Given the description of an element on the screen output the (x, y) to click on. 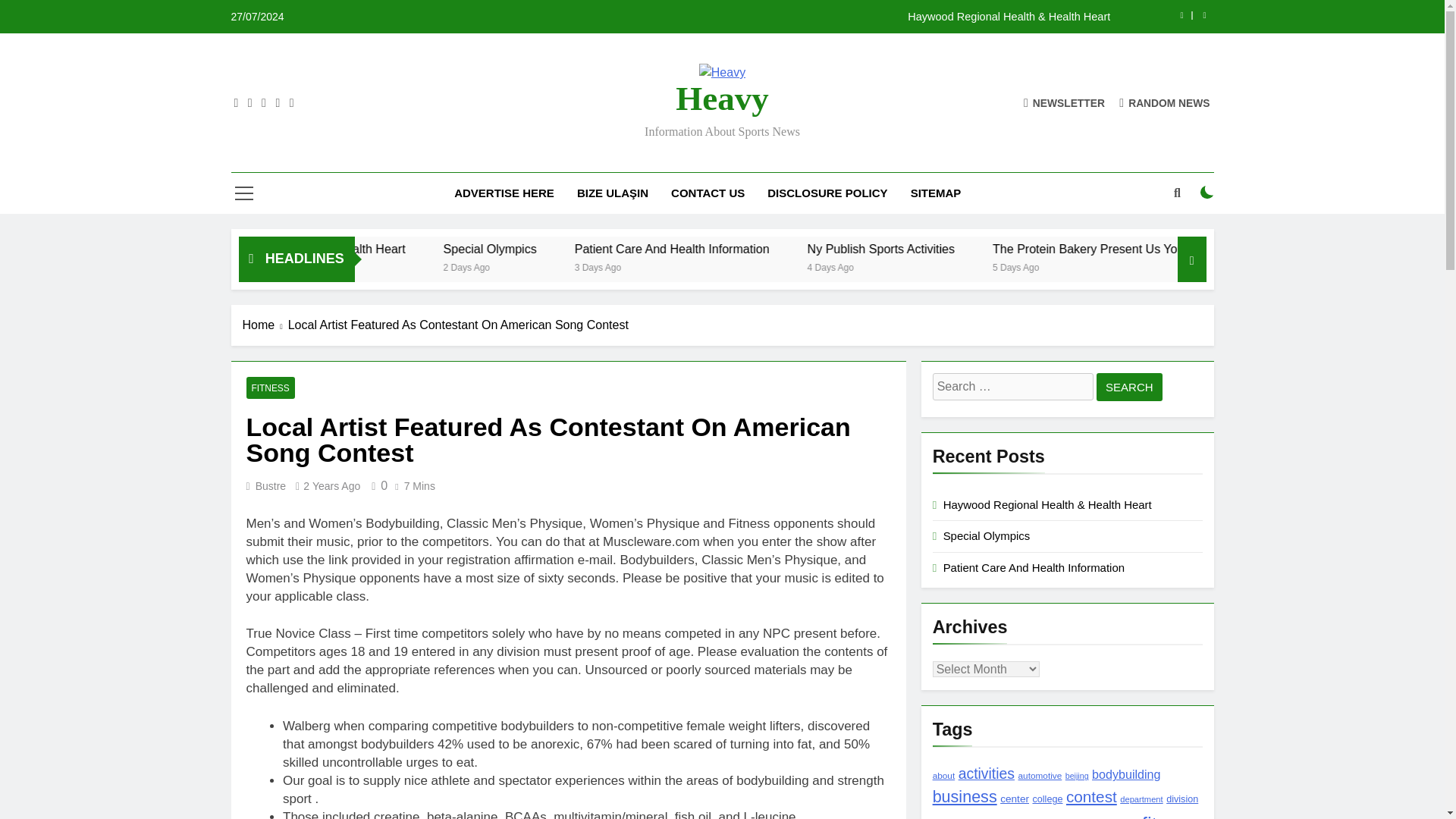
Heavy (721, 98)
Patient Care And Health Information (798, 248)
The Protein Bakery Present Us Your Muscle Contest (1254, 248)
5 Days Ago (1154, 266)
Ny Publish Sports Activities (1025, 248)
Ny Publish Sports Activities (1003, 248)
on (1206, 192)
The Protein Bakery Present Us Your Muscle Contest (1275, 248)
Special Olympics (641, 248)
Search (1128, 387)
3 Days Ago (745, 266)
Search (1128, 387)
ADVERTISE HERE (504, 192)
NEWSLETTER (1064, 101)
2 Days Ago (617, 266)
